Given the description of an element on the screen output the (x, y) to click on. 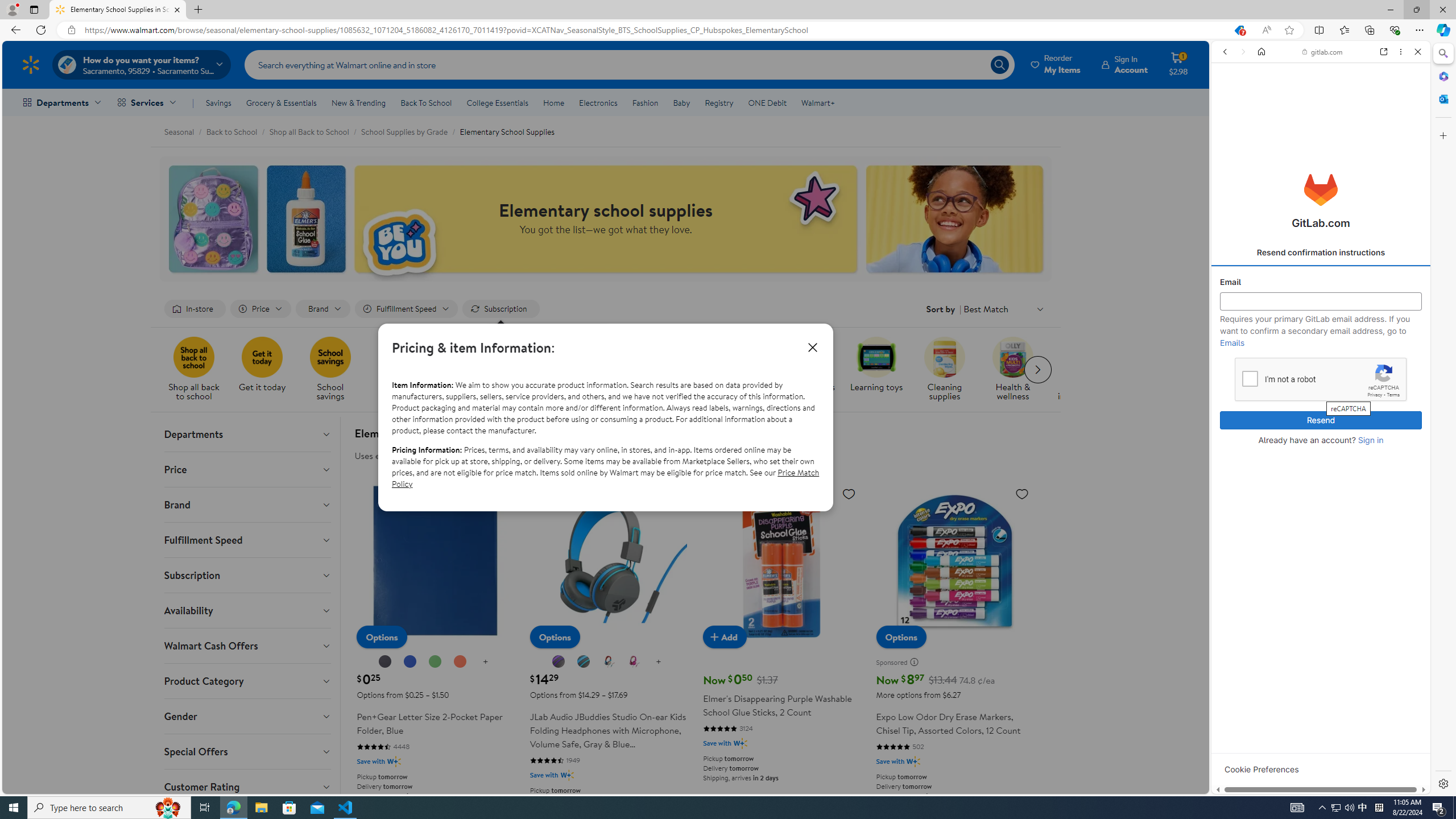
Terms (1393, 394)
Search Filter, IMAGES (1260, 129)
About GitLab (1320, 336)
Confirmation Page (1320, 389)
Search Filter, VIDEOS (1298, 129)
Class: b_serphb (1404, 130)
Search the web (1326, 78)
This site scope (1259, 102)
